Given the description of an element on the screen output the (x, y) to click on. 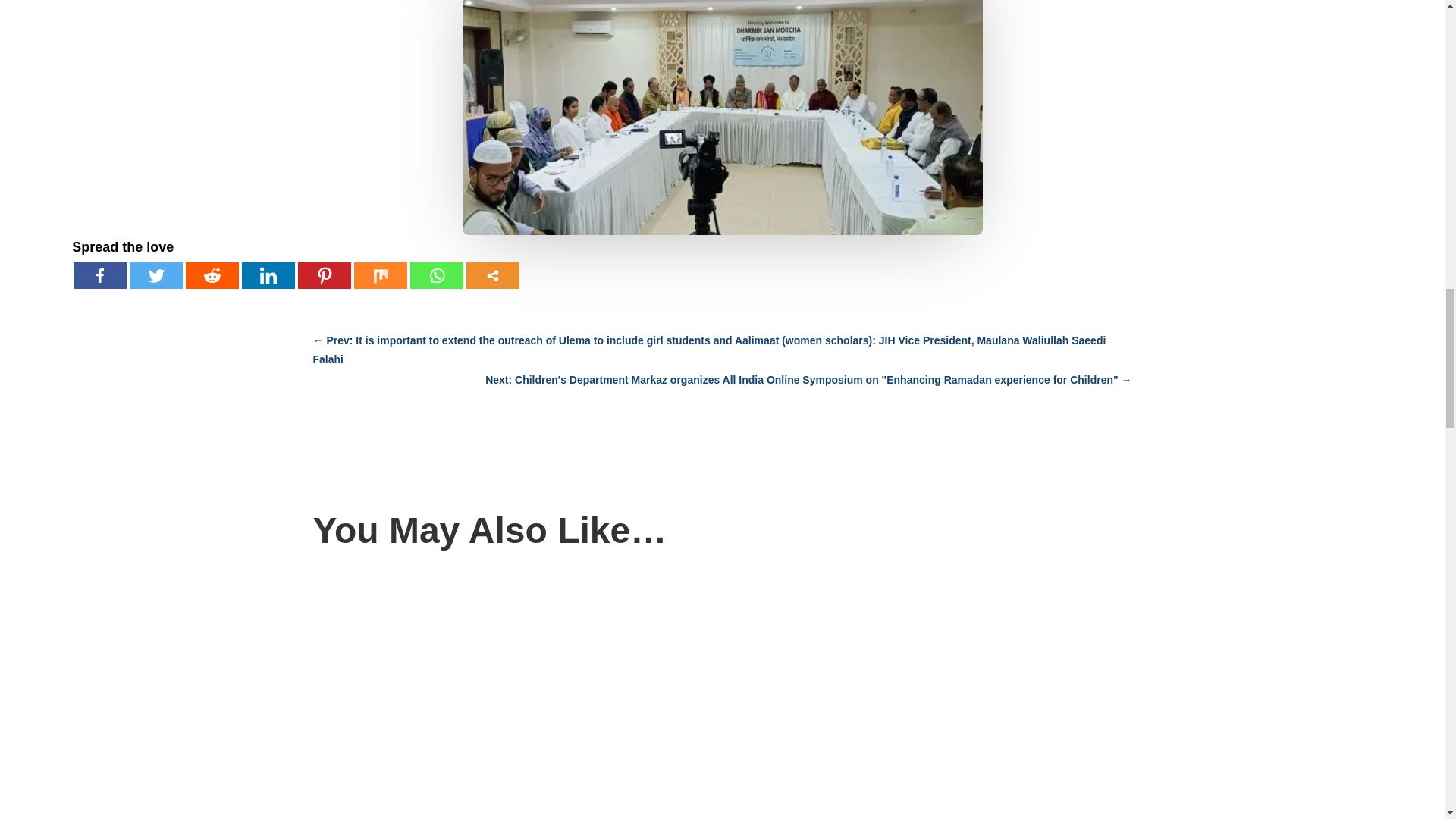
More (492, 275)
Mix (380, 275)
Twitter (156, 275)
Reddit (212, 275)
Whatsapp (436, 275)
Pinterest (324, 275)
Linkedin (268, 275)
Facebook (100, 275)
